Given the description of an element on the screen output the (x, y) to click on. 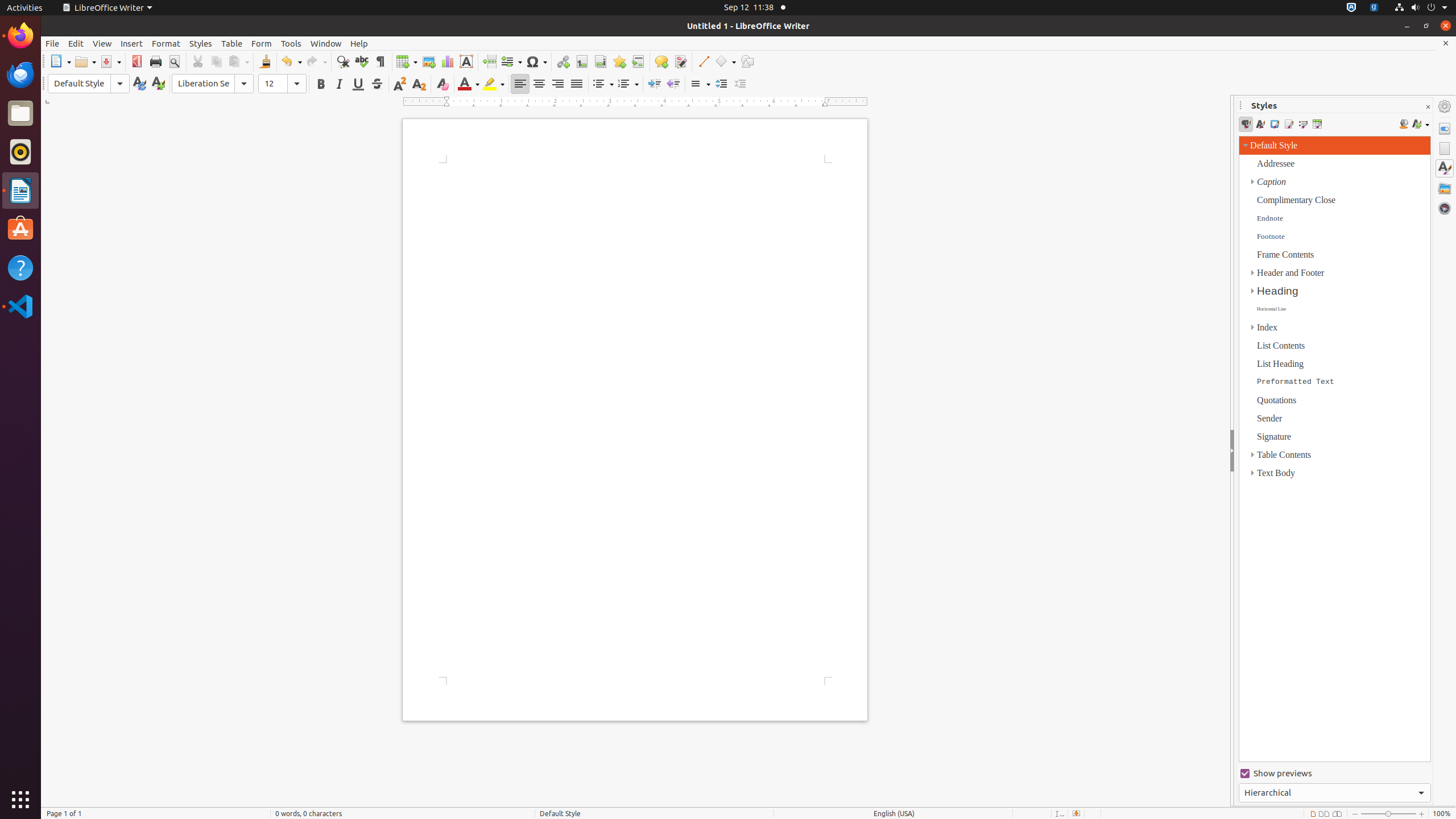
Window Element type: menu (325, 43)
List Styles Element type: push-button (1302, 123)
Navigator Element type: radio-button (1444, 208)
Underline Element type: push-button (357, 83)
Table Styles Element type: push-button (1316, 123)
